Given the description of an element on the screen output the (x, y) to click on. 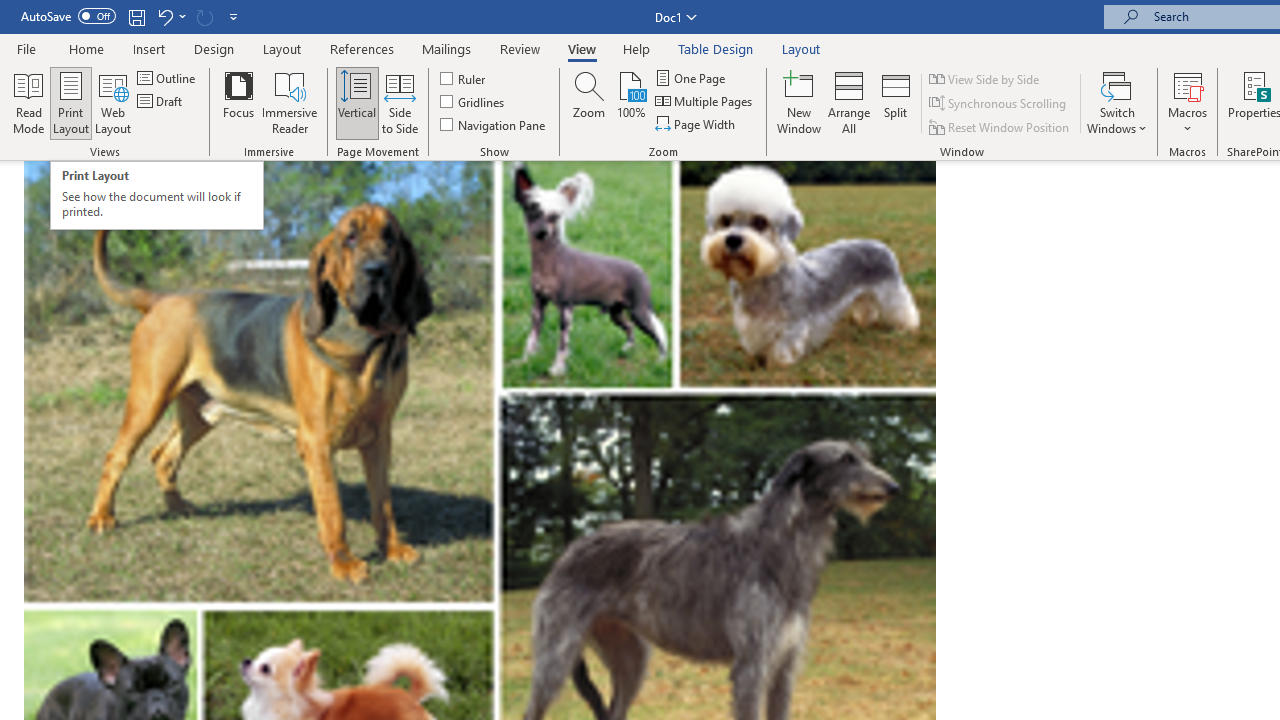
Navigation Pane (493, 124)
Immersive Reader (289, 102)
Ruler (463, 78)
Side to Side (399, 102)
Macros (1187, 102)
View Macros (1187, 84)
Gridlines (473, 101)
Undo Row Height Spinner (164, 15)
